Given the description of an element on the screen output the (x, y) to click on. 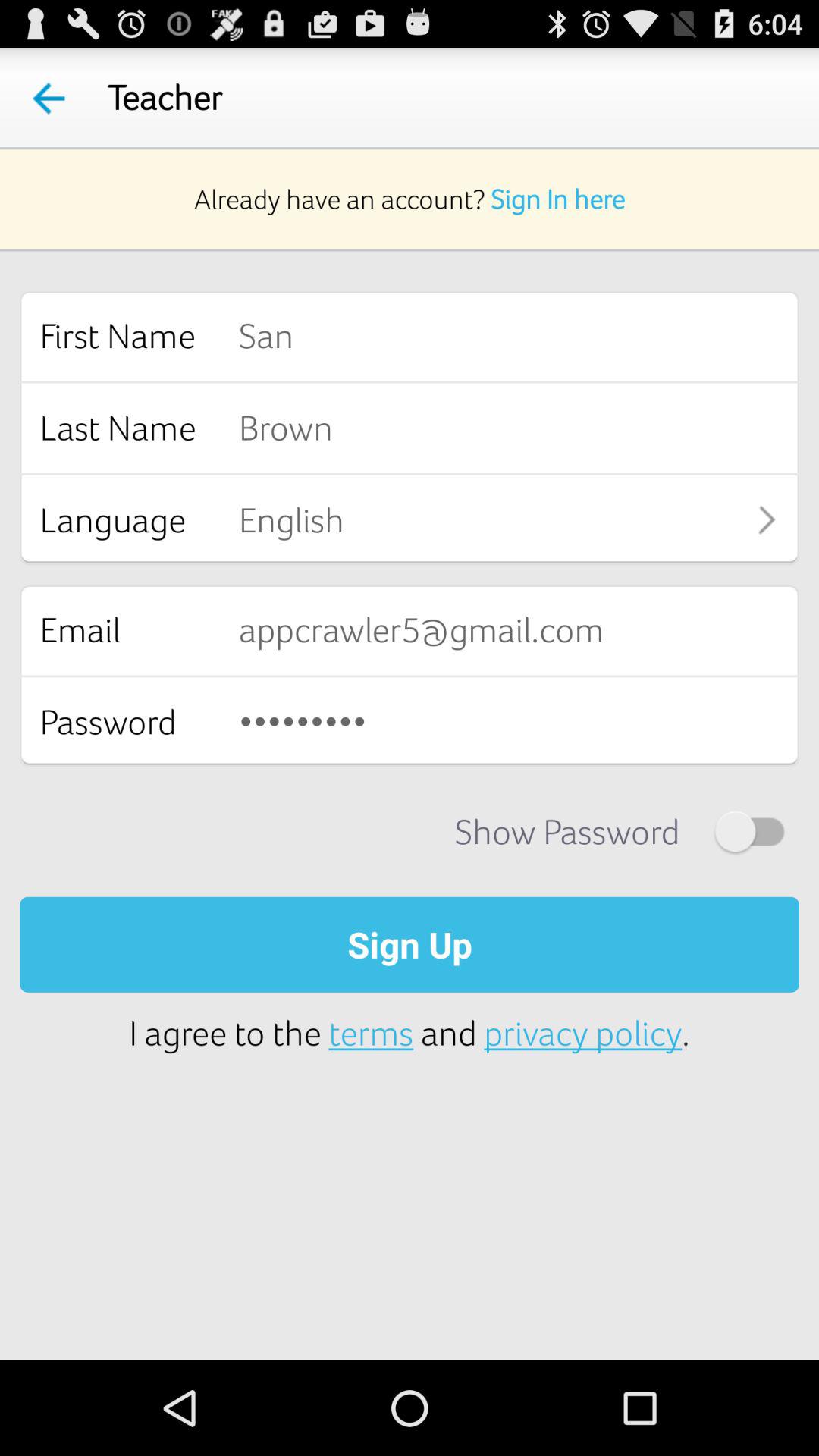
toggle show password (749, 831)
